Given the description of an element on the screen output the (x, y) to click on. 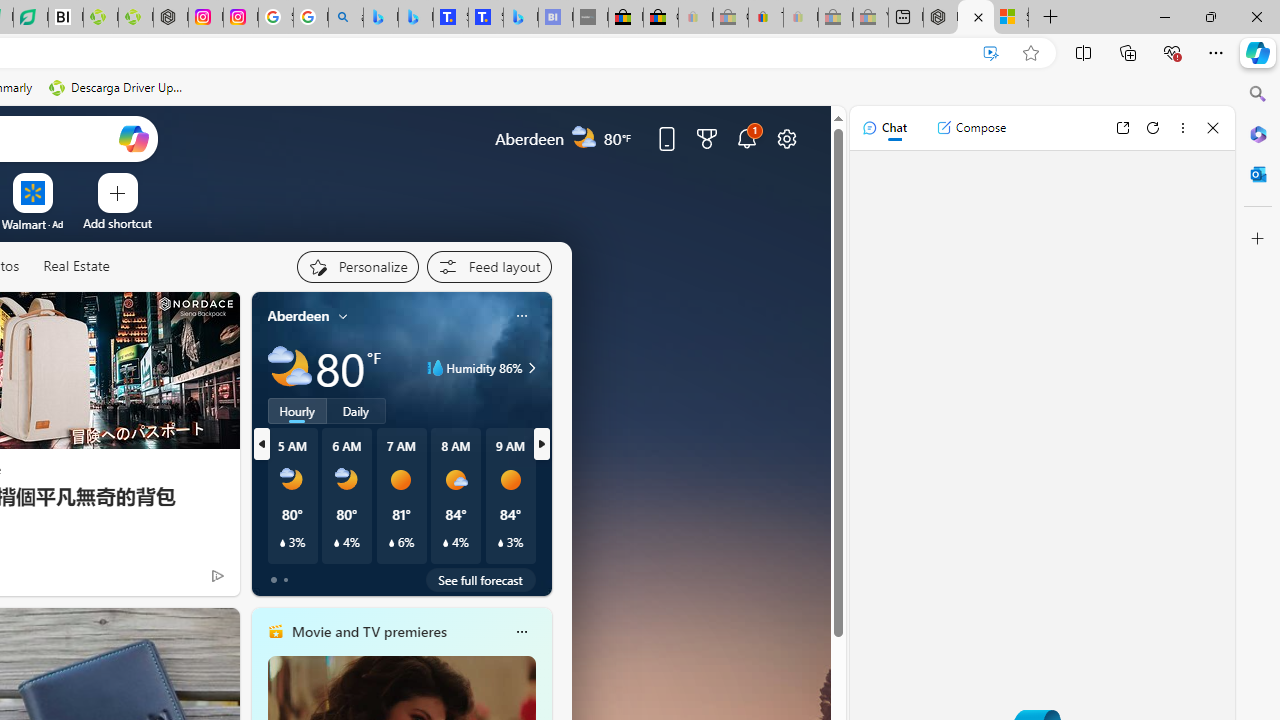
My location (343, 315)
